Given the description of an element on the screen output the (x, y) to click on. 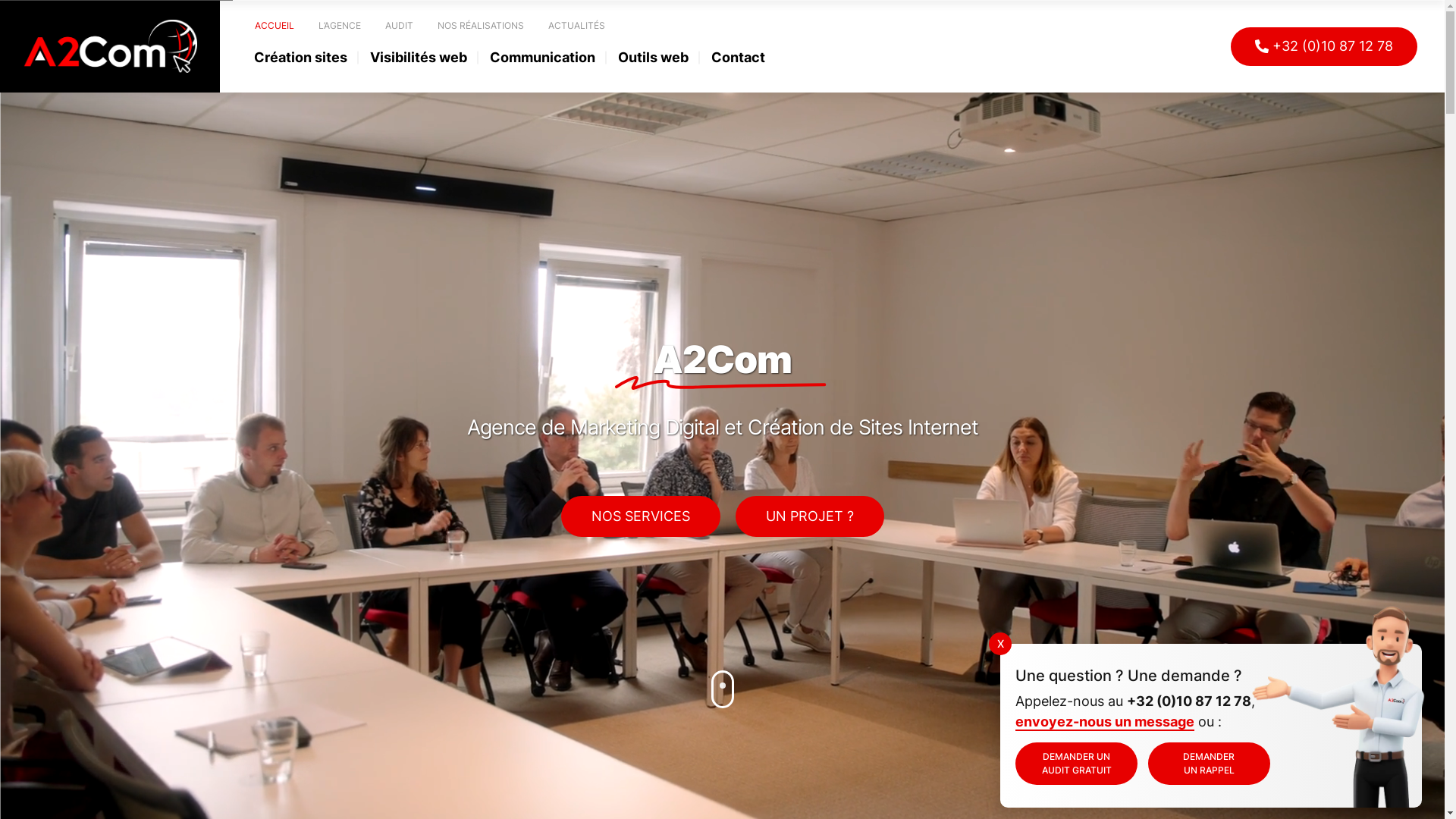
X Element type: text (999, 643)
Communication Element type: text (542, 58)
Outils web Element type: text (652, 58)
UN PROJET ? Element type: text (809, 515)
ACCUEIL Element type: text (274, 25)
Contact Element type: text (737, 58)
+32 (0)10 87 12 78 Element type: text (1323, 46)
DEMANDER UN
AUDIT GRATUIT Element type: text (1076, 763)
envoyez-nous un message Element type: text (1104, 722)
AUDIT Element type: text (399, 25)
NOS SERVICES Element type: text (640, 515)
DEMANDER
UN RAPPEL Element type: text (1209, 763)
